Given the description of an element on the screen output the (x, y) to click on. 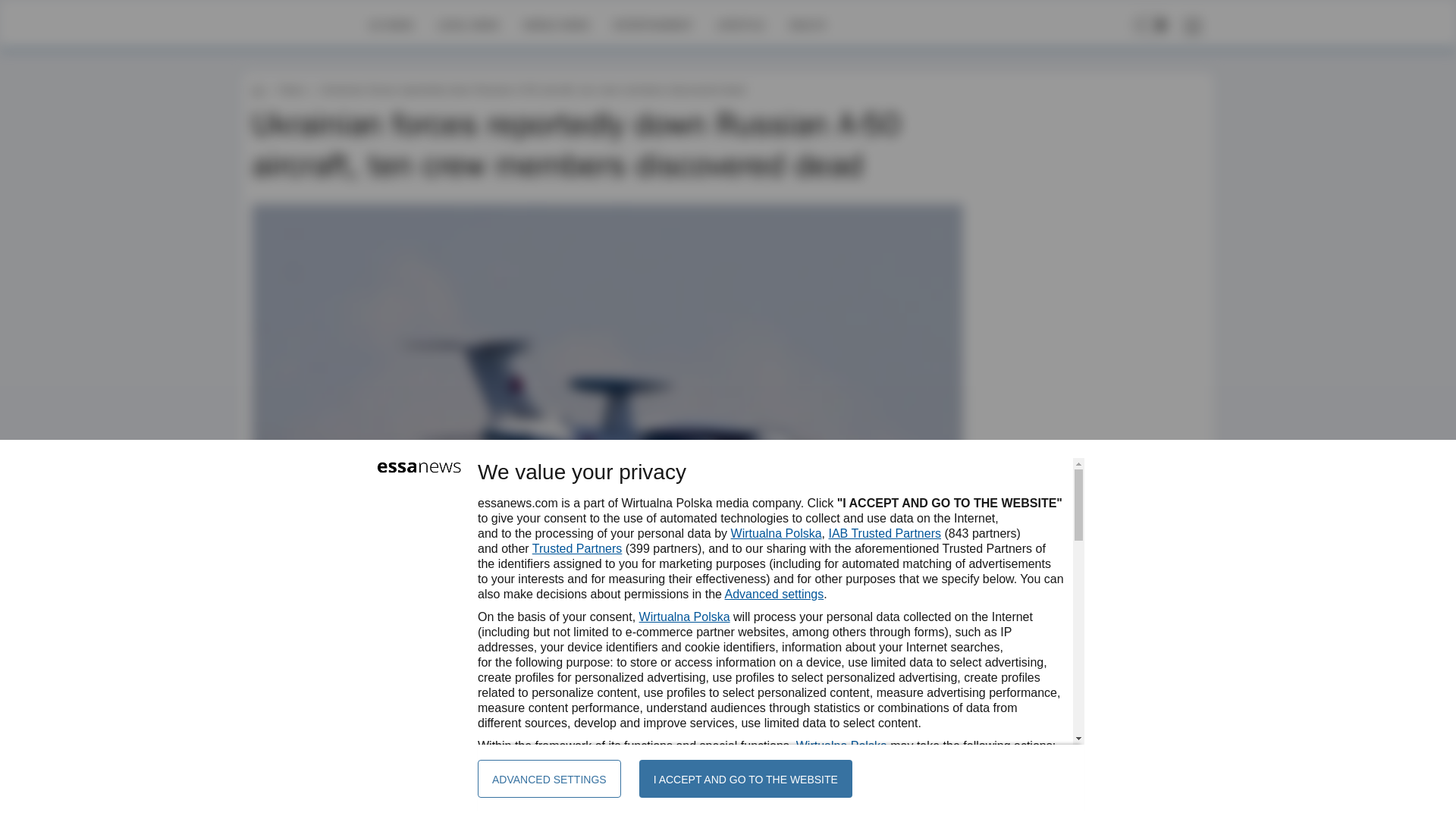
PAB (298, 641)
ENTERTAINMENT (652, 24)
LIFESTYLE (740, 24)
LOCAL NEWS (468, 24)
SHARE (936, 649)
HEALTH (807, 24)
essanews.com (257, 89)
US NEWS (390, 24)
Homepage (305, 24)
News (291, 89)
